Given the description of an element on the screen output the (x, y) to click on. 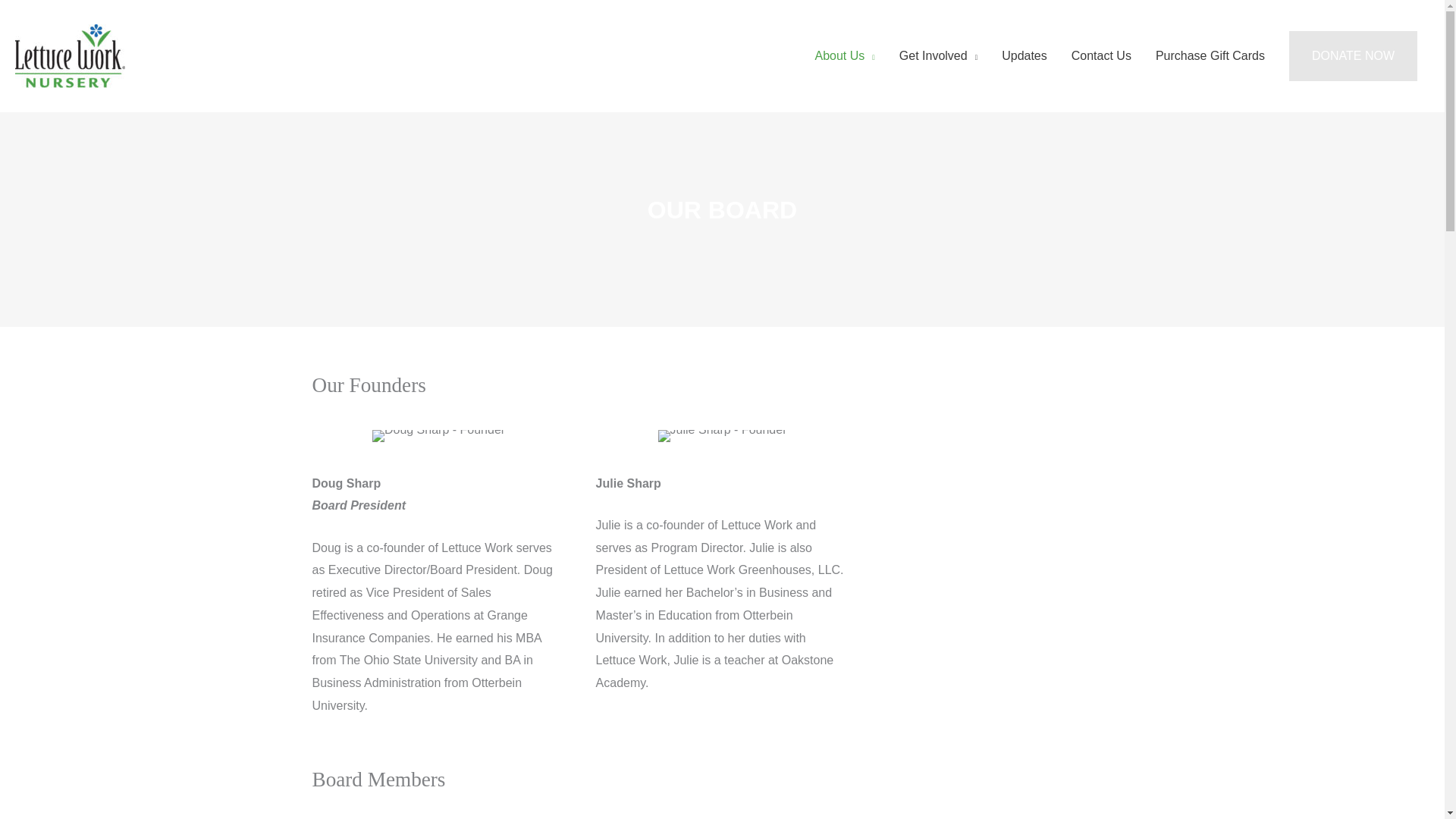
Purchase Gift Cards (1209, 55)
DONATE NOW (1352, 56)
About Us (844, 55)
Doug Sharp (438, 435)
Contact Us (1100, 55)
Julie Sharp (722, 435)
Get Involved (938, 55)
Updates (1024, 55)
